Given the description of an element on the screen output the (x, y) to click on. 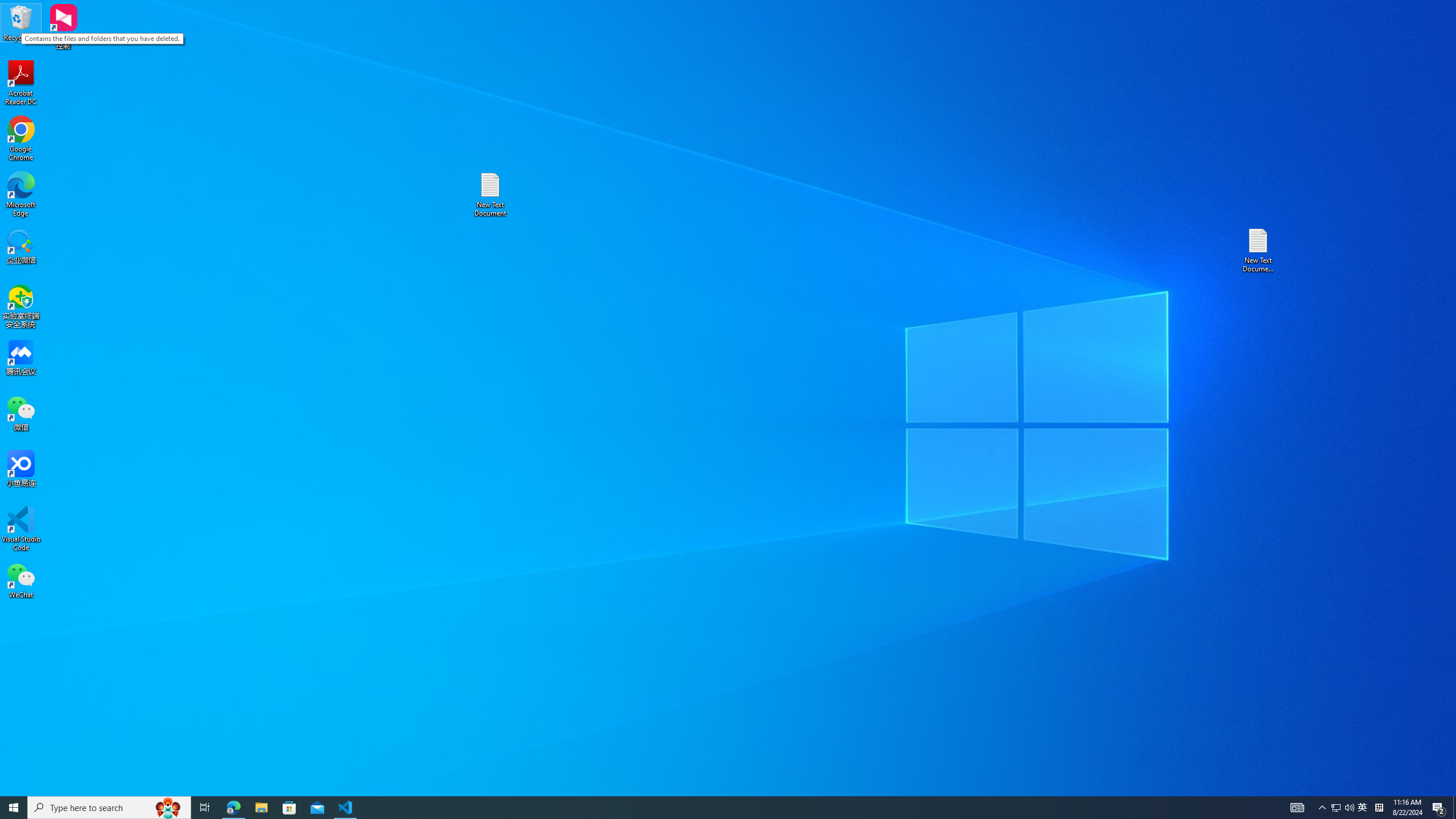
File Explorer (261, 807)
Acrobat Reader DC (21, 82)
Visual Studio Code - 1 running window (345, 807)
New Text Document (2) (1258, 250)
Visual Studio Code (1335, 807)
Type here to search (21, 528)
Action Center, 2 new notifications (108, 807)
Microsoft Edge (1439, 807)
Search highlights icon opens search home window (21, 194)
Task View (167, 807)
